Given the description of an element on the screen output the (x, y) to click on. 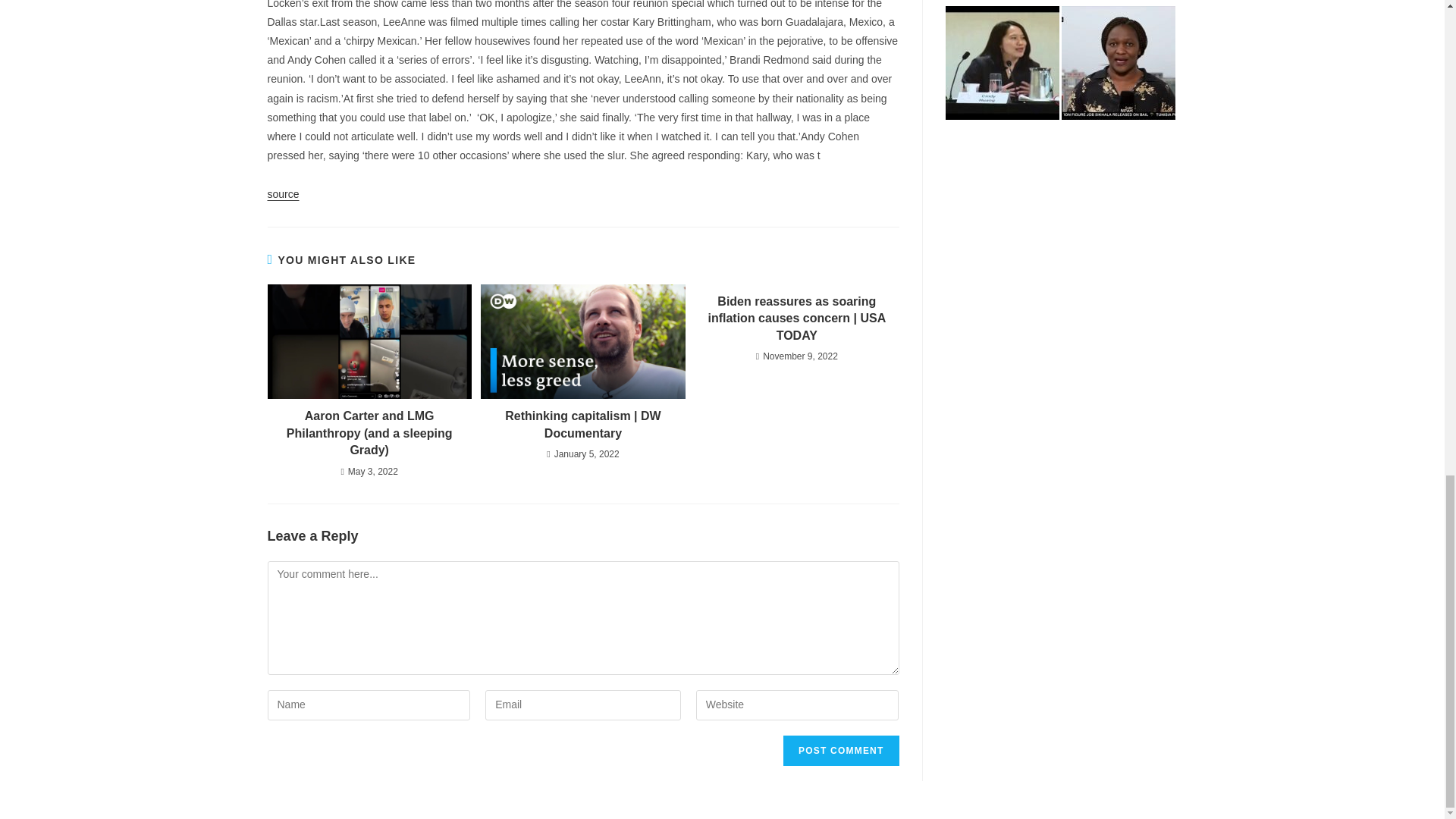
source (282, 193)
Post Comment (840, 750)
Post Comment (840, 750)
